Given the description of an element on the screen output the (x, y) to click on. 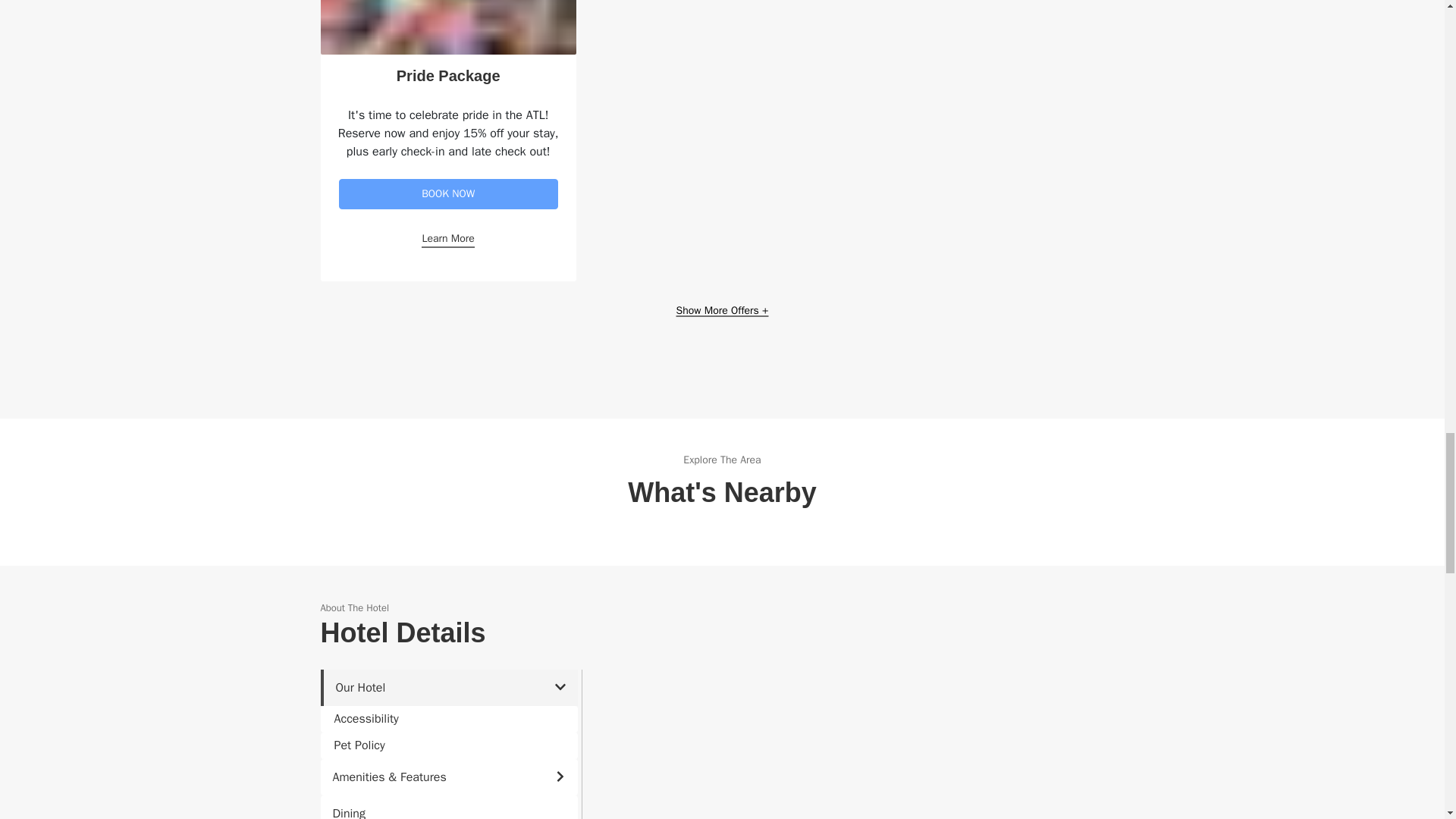
Accessibility (448, 718)
Learn More (448, 239)
BOOK NOW (447, 194)
Our Hotel (448, 687)
Pet Policy (448, 745)
